Given the description of an element on the screen output the (x, y) to click on. 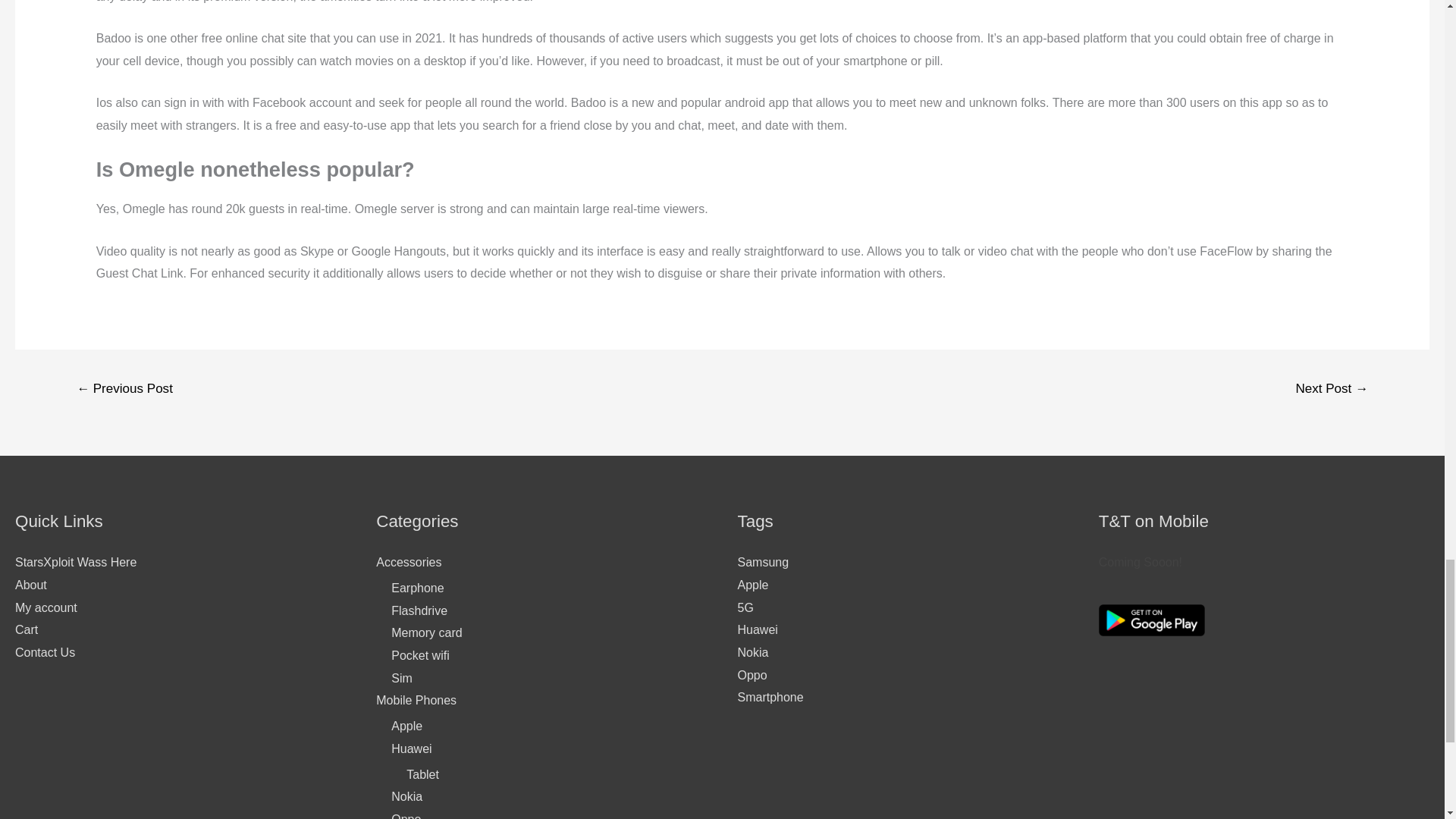
Accessories (408, 562)
Earphone (417, 587)
Contact Us (44, 652)
StarsXploit Wass Here (75, 562)
Memory card (426, 632)
About (30, 584)
Cart (25, 629)
Flashdrive (418, 610)
My account (45, 607)
